Given the description of an element on the screen output the (x, y) to click on. 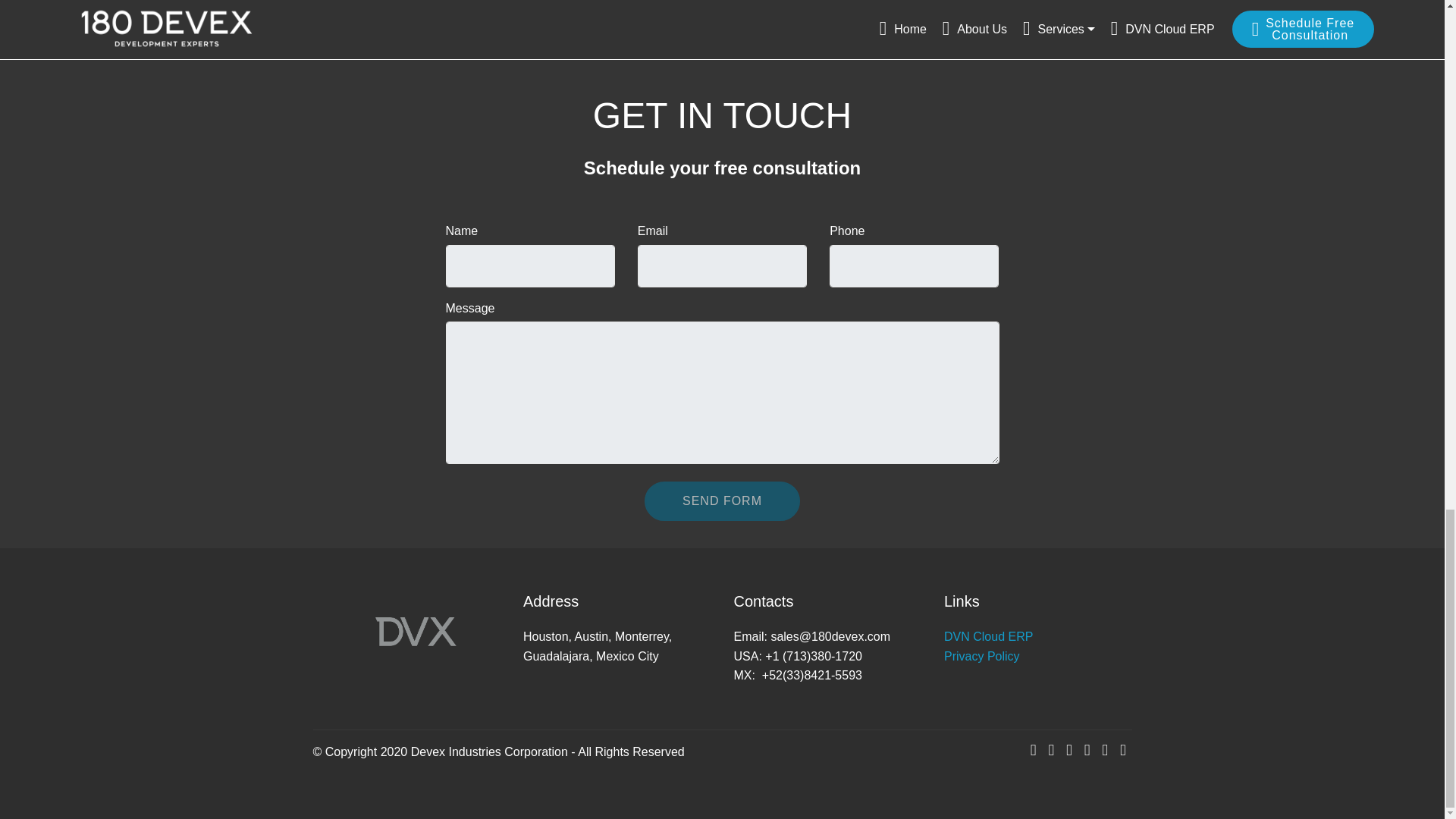
SEND FORM (722, 500)
Privacy Policy (981, 656)
DVN Cloud ERP (987, 635)
